Given the description of an element on the screen output the (x, y) to click on. 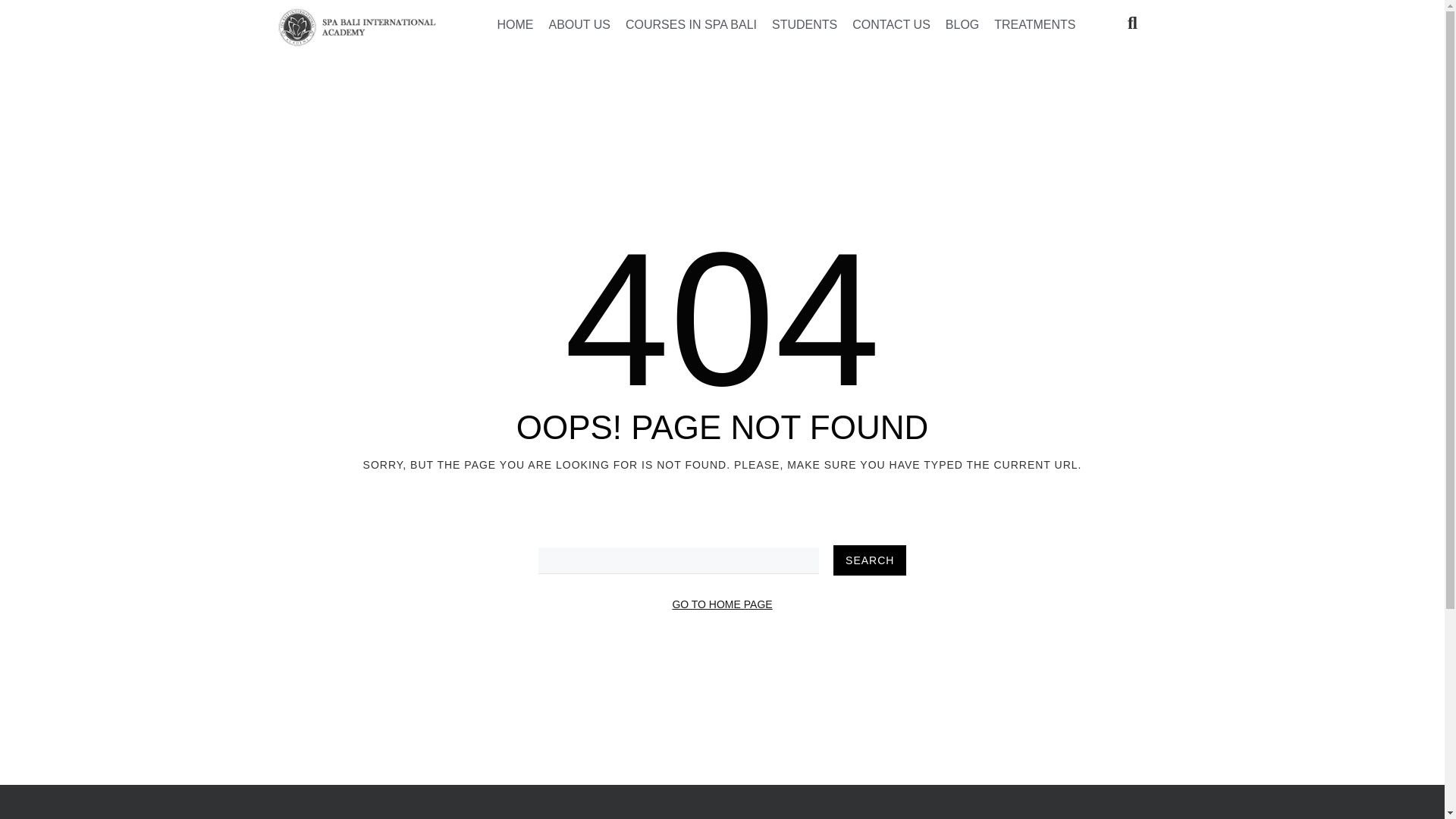
BLOG (962, 24)
STUDENTS (804, 24)
ABOUT US (578, 24)
Search (868, 560)
HOME (514, 24)
TREATMENTS (1035, 24)
COURSES IN SPA BALI (690, 24)
CONTACT US (890, 24)
